Given the description of an element on the screen output the (x, y) to click on. 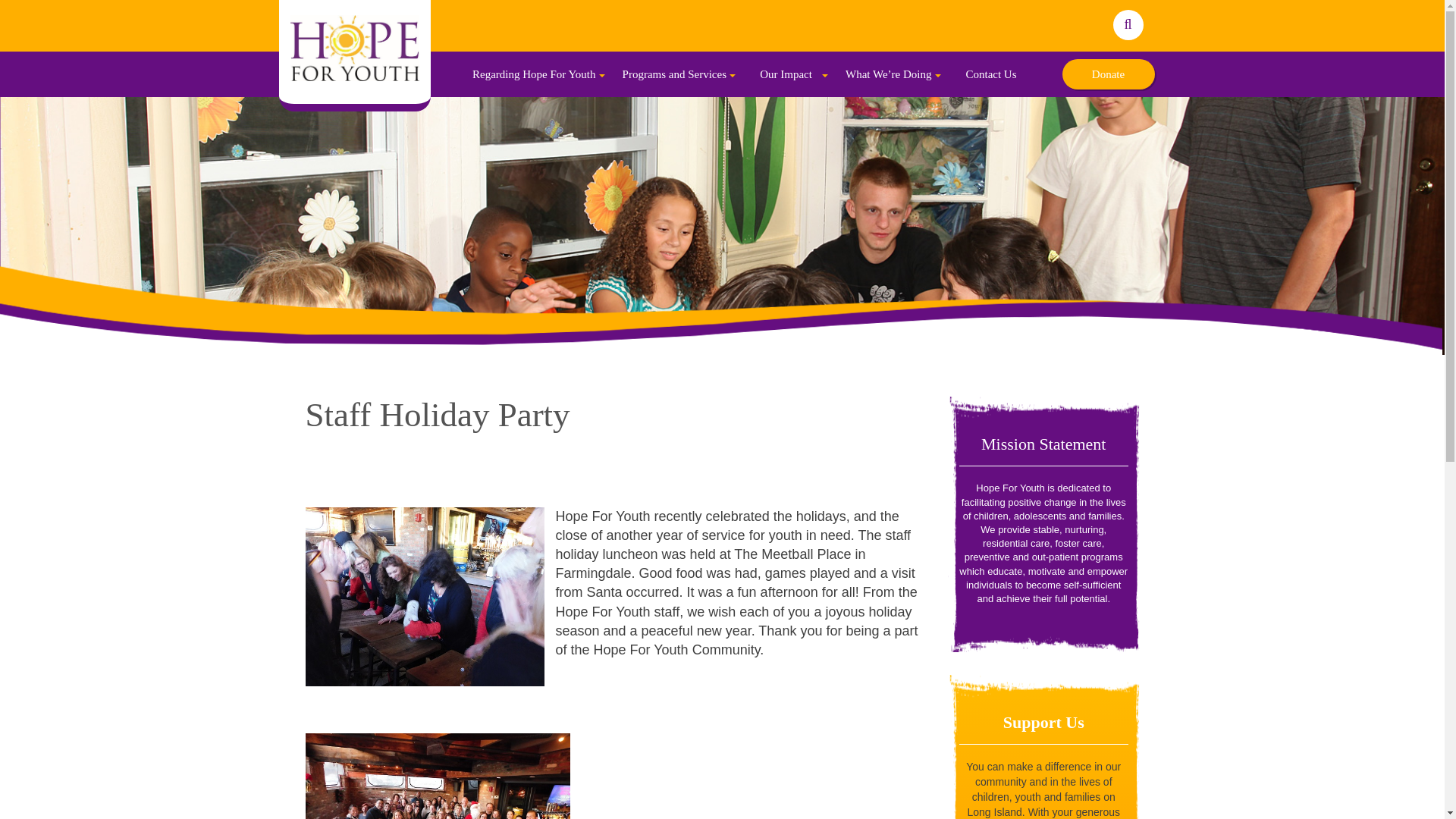
Our Impact (787, 74)
Programs and Services (676, 74)
Programs and Services (676, 74)
Regarding Hope For Youth (536, 74)
Regarding Hope For Youth (536, 74)
